Given the description of an element on the screen output the (x, y) to click on. 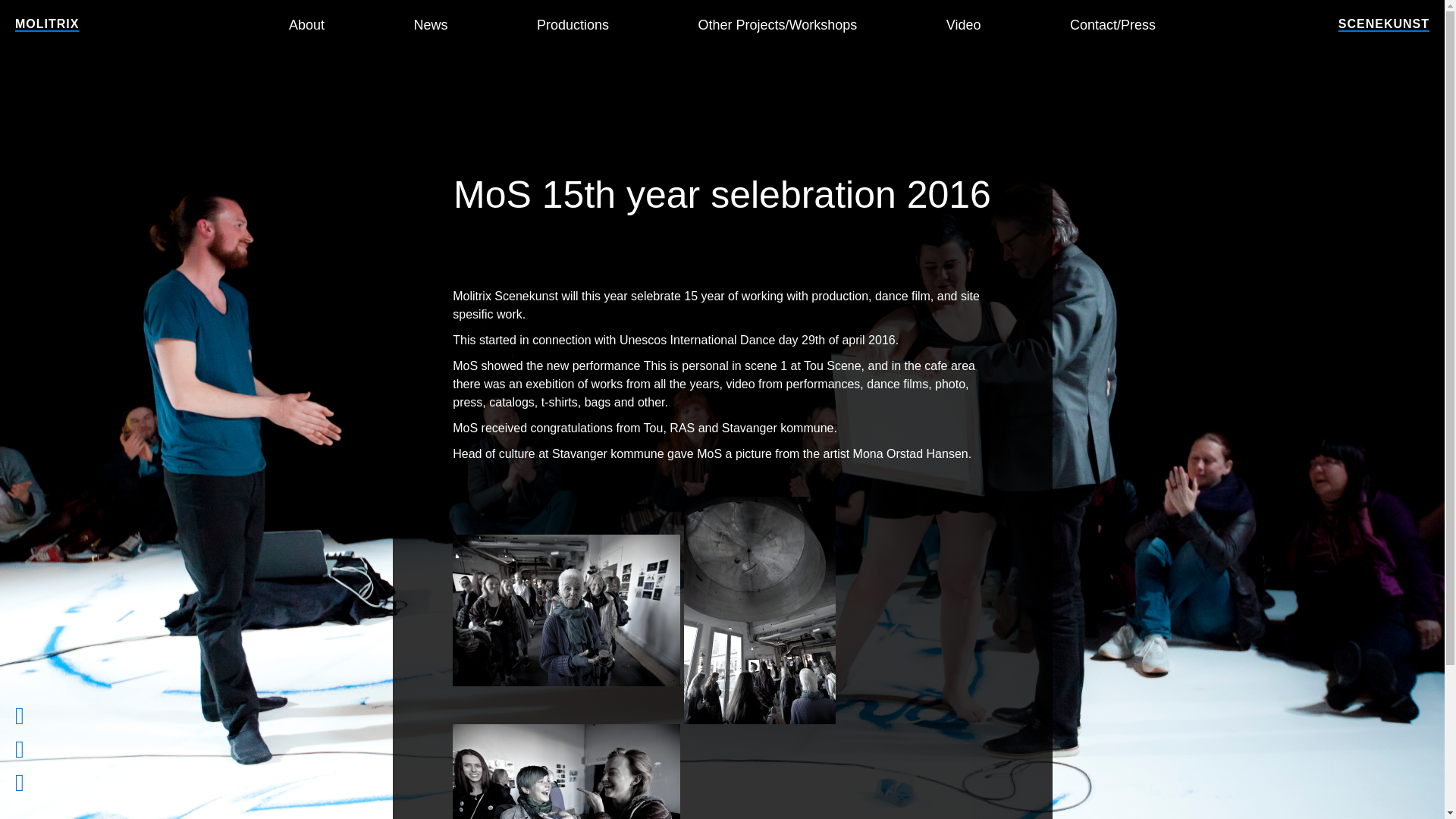
Other Projects (777, 24)
About (306, 24)
Contact (1113, 24)
Video (963, 24)
About (306, 24)
SCENEKUNST (1383, 24)
MOLITRIX (46, 24)
News (430, 24)
News (430, 24)
Productions (572, 24)
Productions (572, 24)
Video (963, 24)
